Given the description of an element on the screen output the (x, y) to click on. 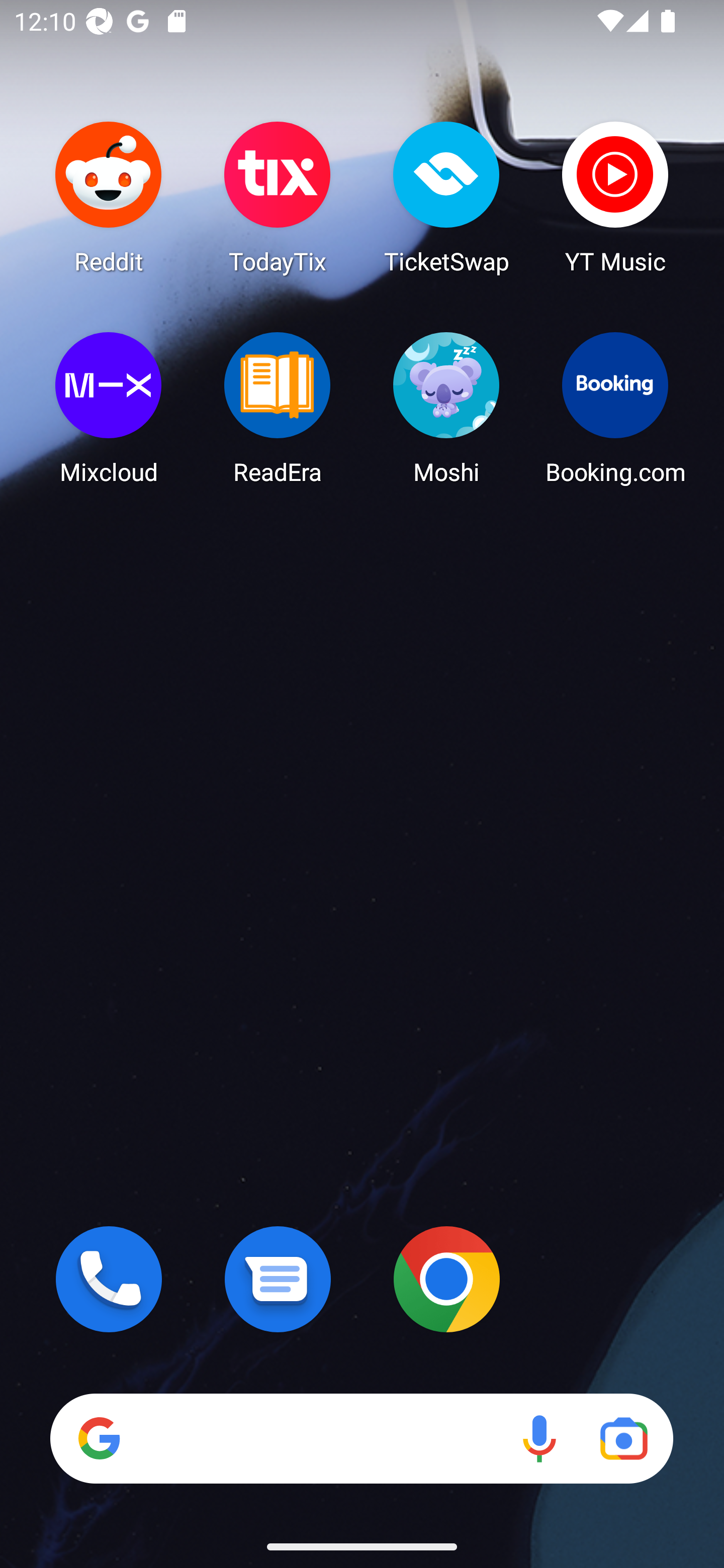
Reddit (108, 196)
TodayTix (277, 196)
TicketSwap (445, 196)
YT Music (615, 196)
Mixcloud (108, 407)
ReadEra (277, 407)
Moshi (445, 407)
Booking.com (615, 407)
Phone (108, 1279)
Messages (277, 1279)
Chrome (446, 1279)
Search Voice search Google Lens (361, 1438)
Voice search (539, 1438)
Google Lens (623, 1438)
